Given the description of an element on the screen output the (x, y) to click on. 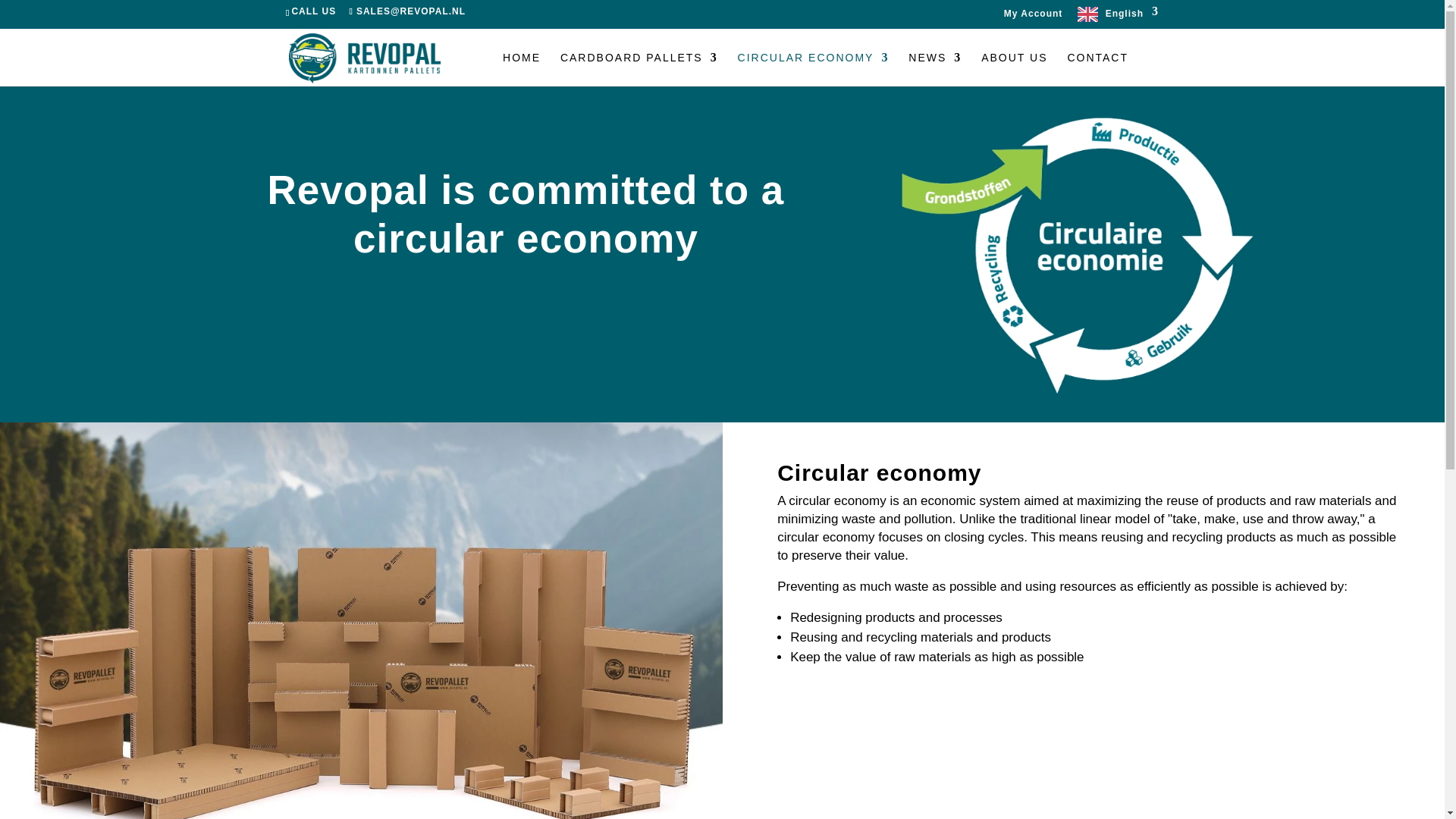
CONTACT (1097, 69)
CALL US (315, 10)
CIRCULAR ECONOMY (813, 69)
CARDBOARD PALLETS (638, 69)
English (1117, 17)
NEWS (934, 69)
My Account (1033, 17)
HOME (521, 69)
ABOUT US (1013, 69)
English (1117, 17)
